Given the description of an element on the screen output the (x, y) to click on. 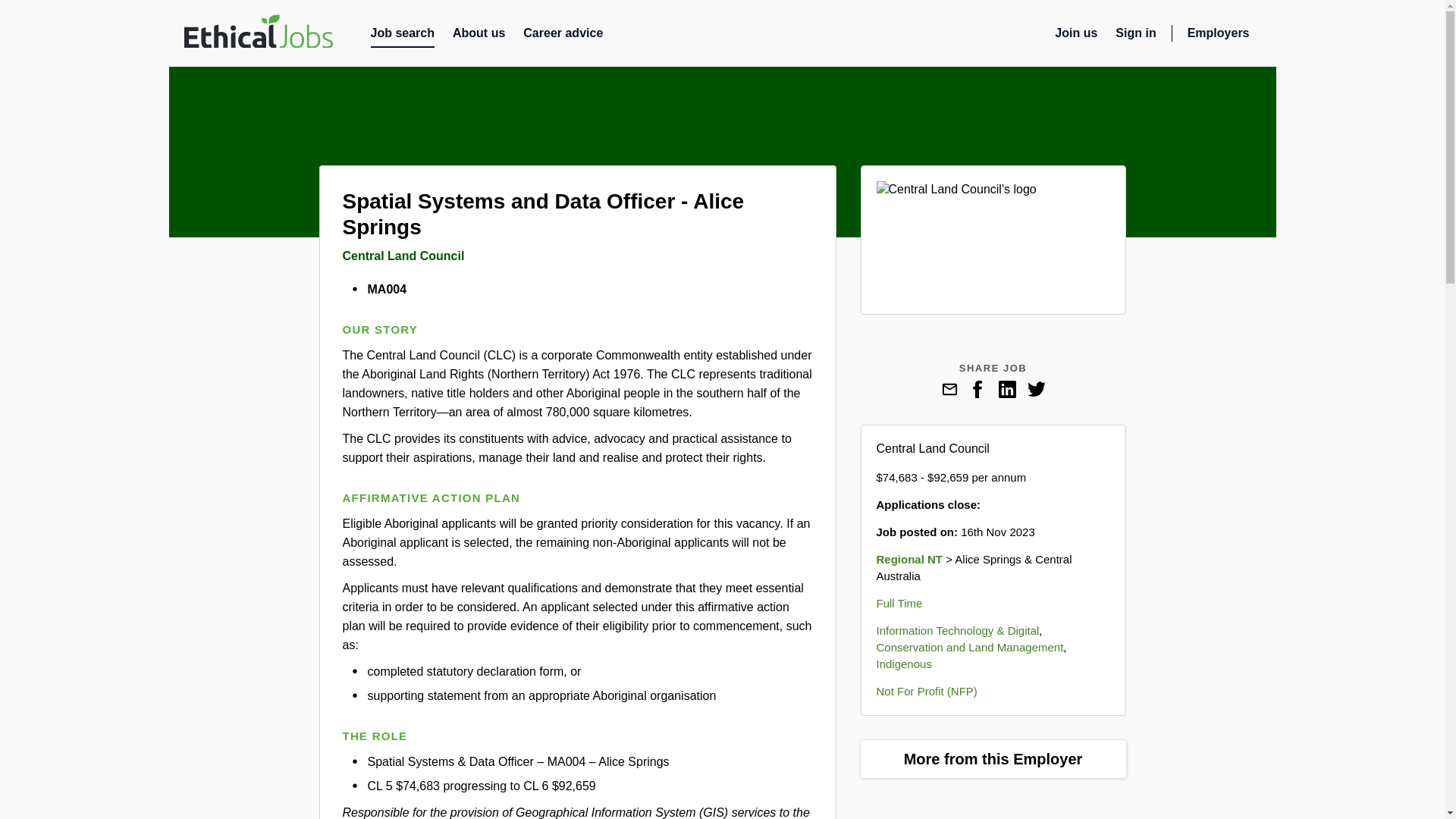
Employers (1224, 36)
Ethical Jobs Logo (257, 33)
Ethical Jobs Logo (257, 31)
Job search (401, 36)
Career advice (562, 36)
Sign in (1135, 36)
Join us (1075, 36)
About us (478, 36)
